Given the description of an element on the screen output the (x, y) to click on. 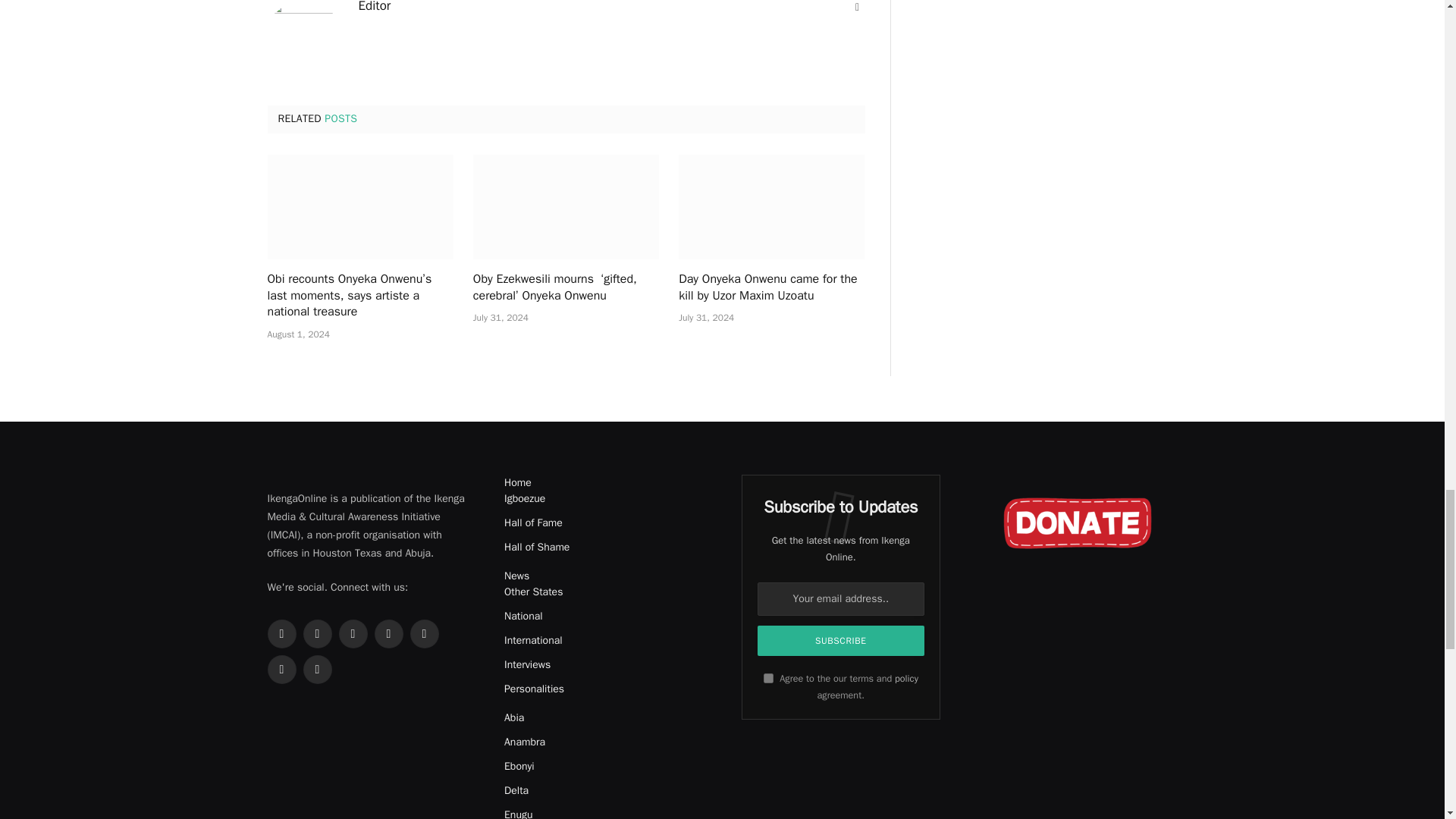
Subscribe (840, 640)
on (767, 678)
